Given the description of an element on the screen output the (x, y) to click on. 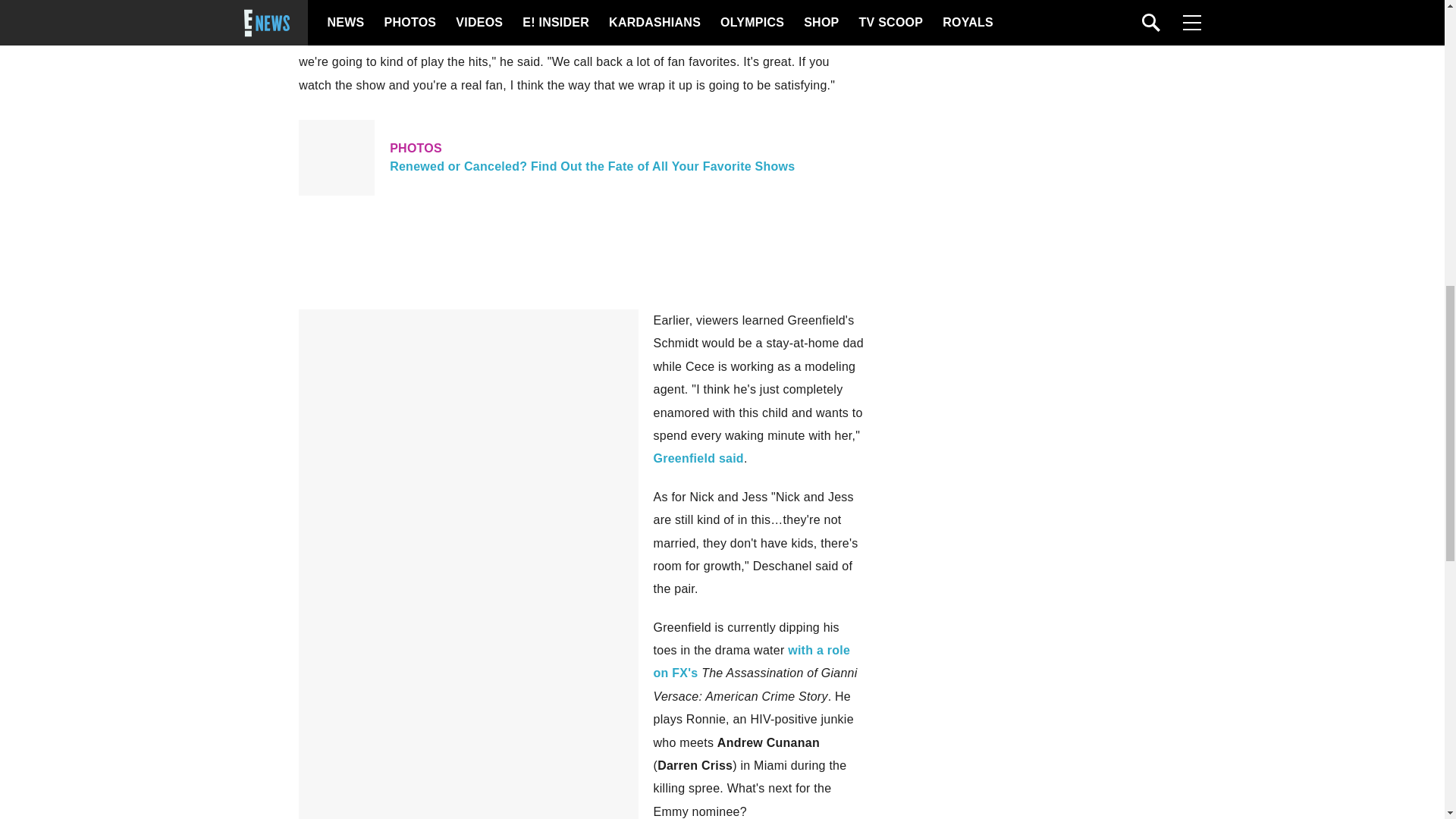
with a role on FX's (751, 661)
Greenfield said (698, 458)
